Given the description of an element on the screen output the (x, y) to click on. 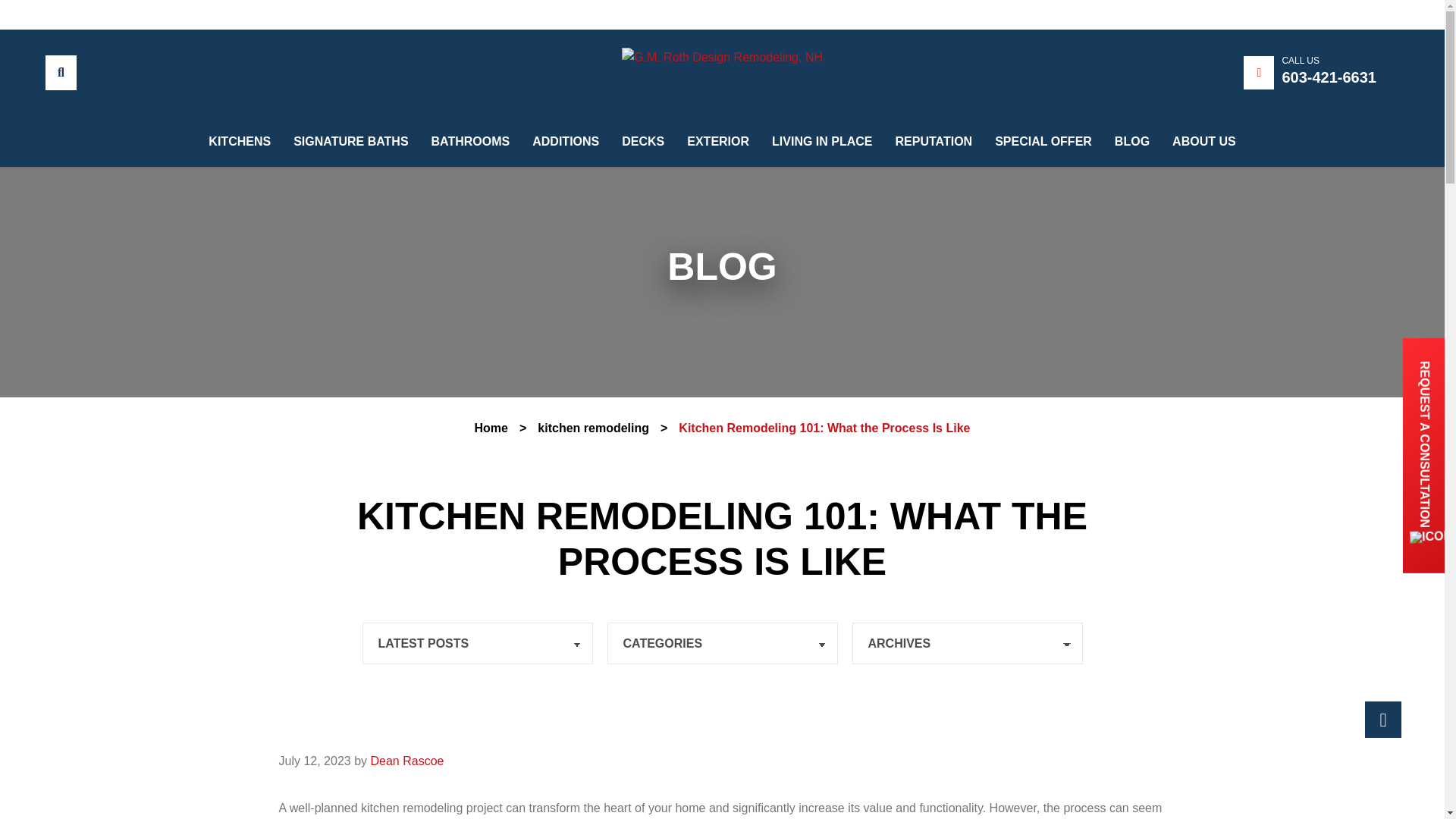
EXTERIOR (718, 70)
LIVING IN PLACE (821, 96)
Visit Our Instagram Page (97, 8)
Visit Our Houzz Page (174, 11)
REPUTATION (933, 109)
Visit Our Twitter Page (123, 10)
G.M. Roth Design Remodeling (721, 56)
Visit Our Pinterest Page (149, 11)
Visit Our Google Business Profile (71, 6)
